Given the description of an element on the screen output the (x, y) to click on. 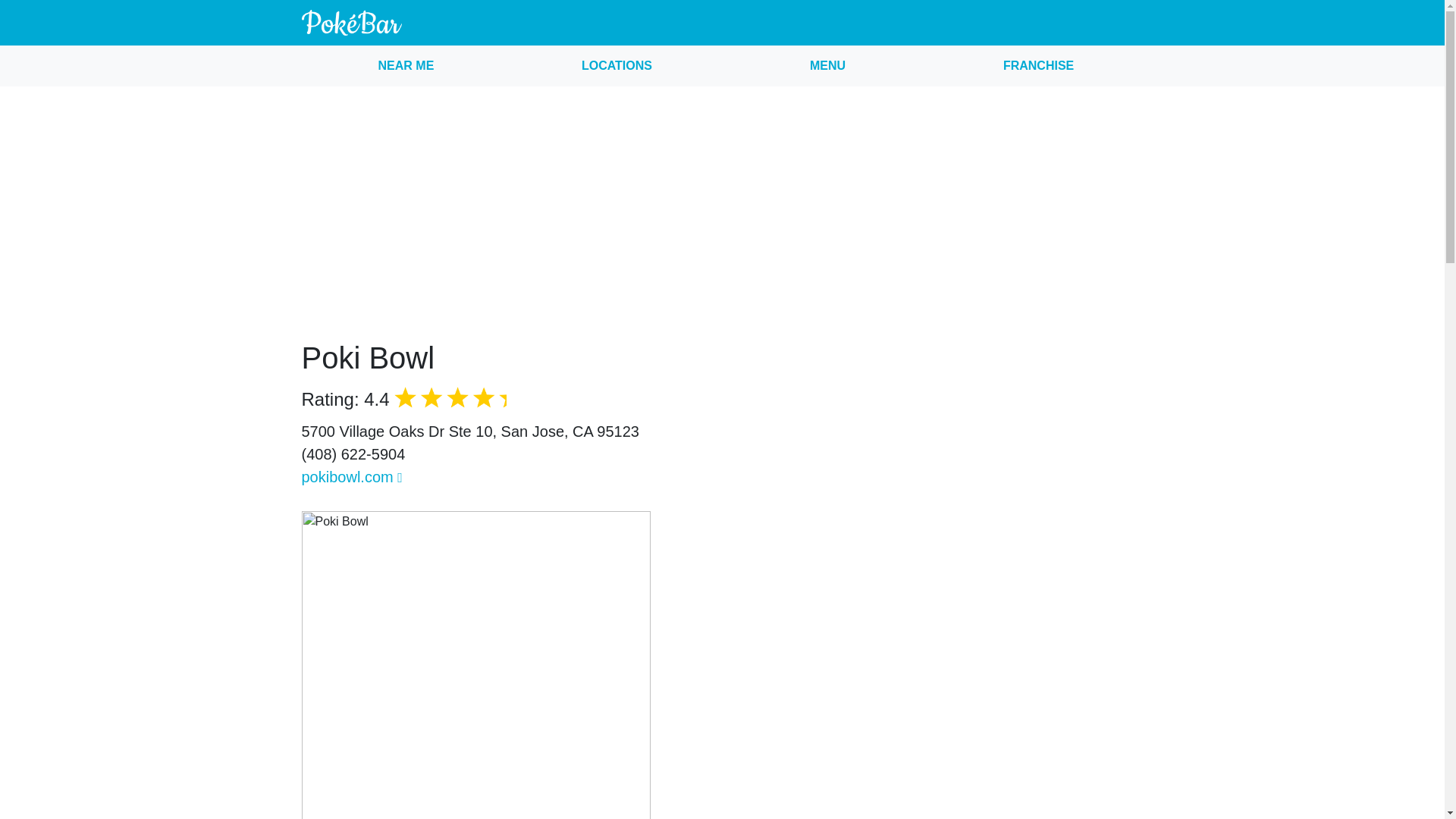
4.4 Stars (457, 401)
MENU (827, 65)
LOCATIONS (616, 65)
NEAR ME (406, 65)
pokibowl.com (352, 476)
FRANCHISE (1038, 65)
Poki Bowl (368, 357)
